Given the description of an element on the screen output the (x, y) to click on. 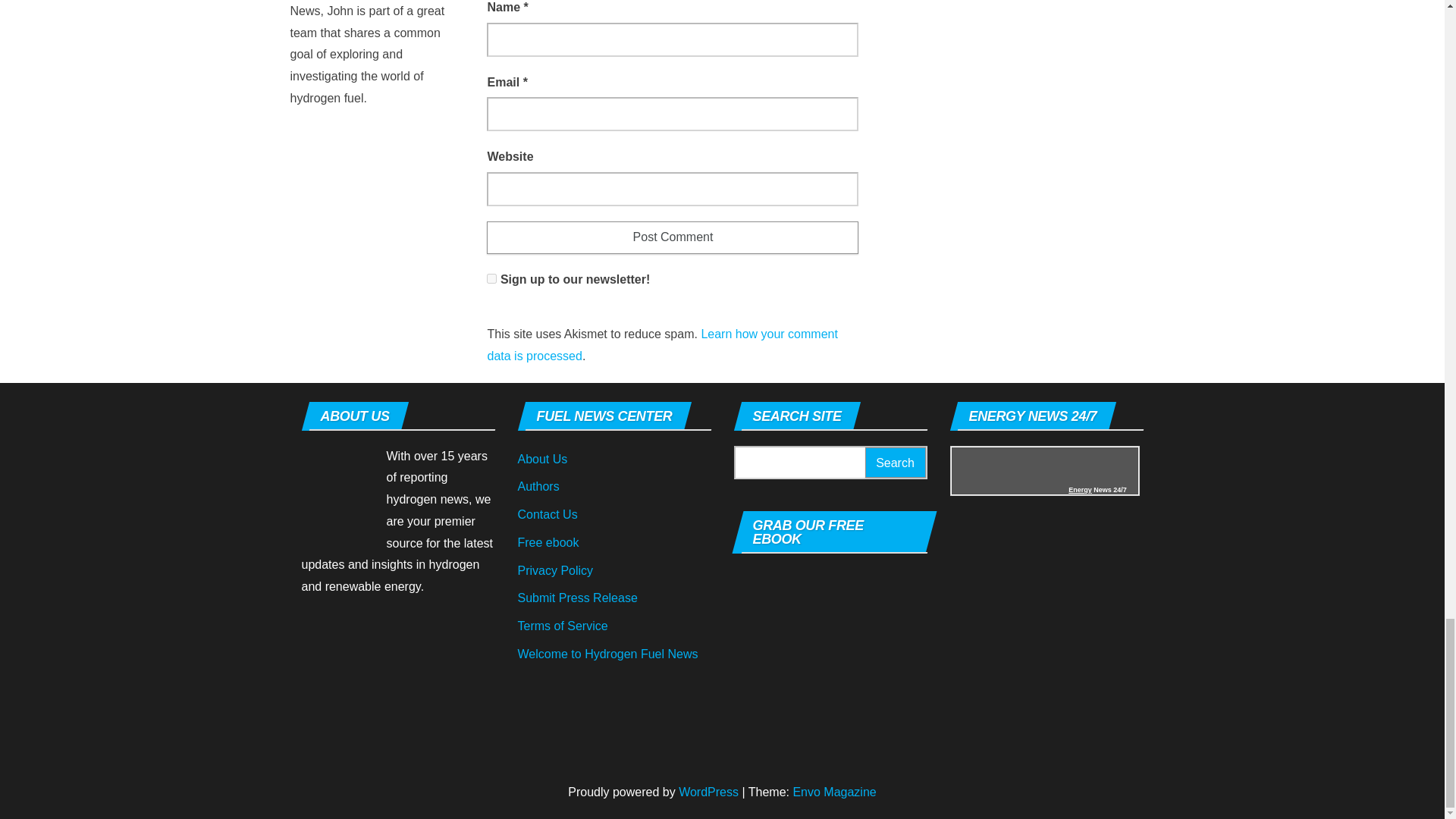
Post Comment (672, 237)
Search (894, 462)
1 (491, 278)
